Given the description of an element on the screen output the (x, y) to click on. 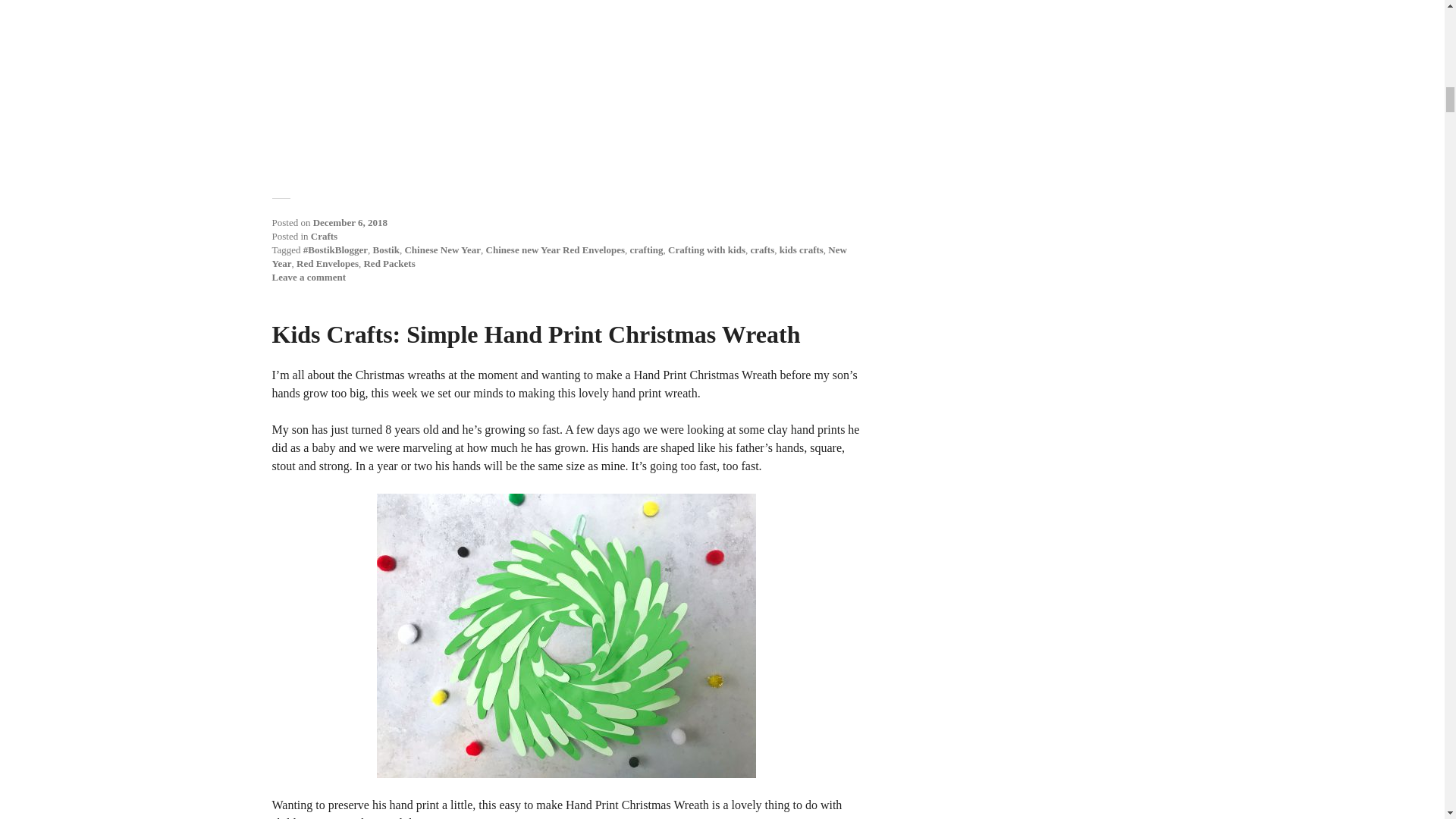
December 6, 2018 (350, 222)
Crafts (324, 235)
Red Packets (388, 263)
Leave a comment (307, 276)
New Year (557, 256)
Red Envelopes (327, 263)
crafting (646, 249)
Crafting with kids (706, 249)
crafts (761, 249)
Chinese new Year Red Envelopes (555, 249)
Bostik (385, 249)
Chinese New Year (442, 249)
kids crafts (801, 249)
Kids Crafts: Simple Hand Print Christmas Wreath (534, 334)
